Given the description of an element on the screen output the (x, y) to click on. 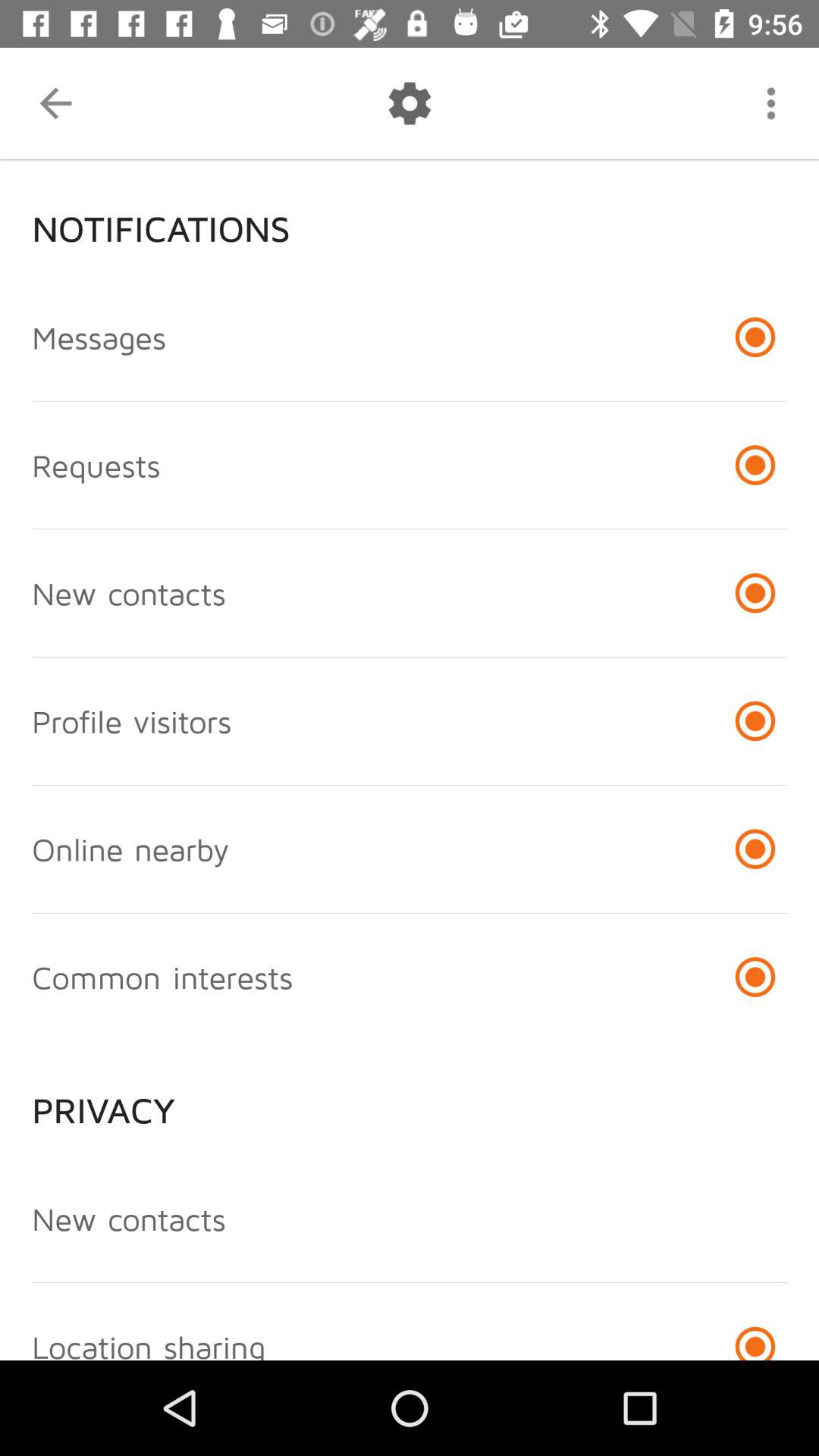
tap icon above the notifications (55, 103)
